Given the description of an element on the screen output the (x, y) to click on. 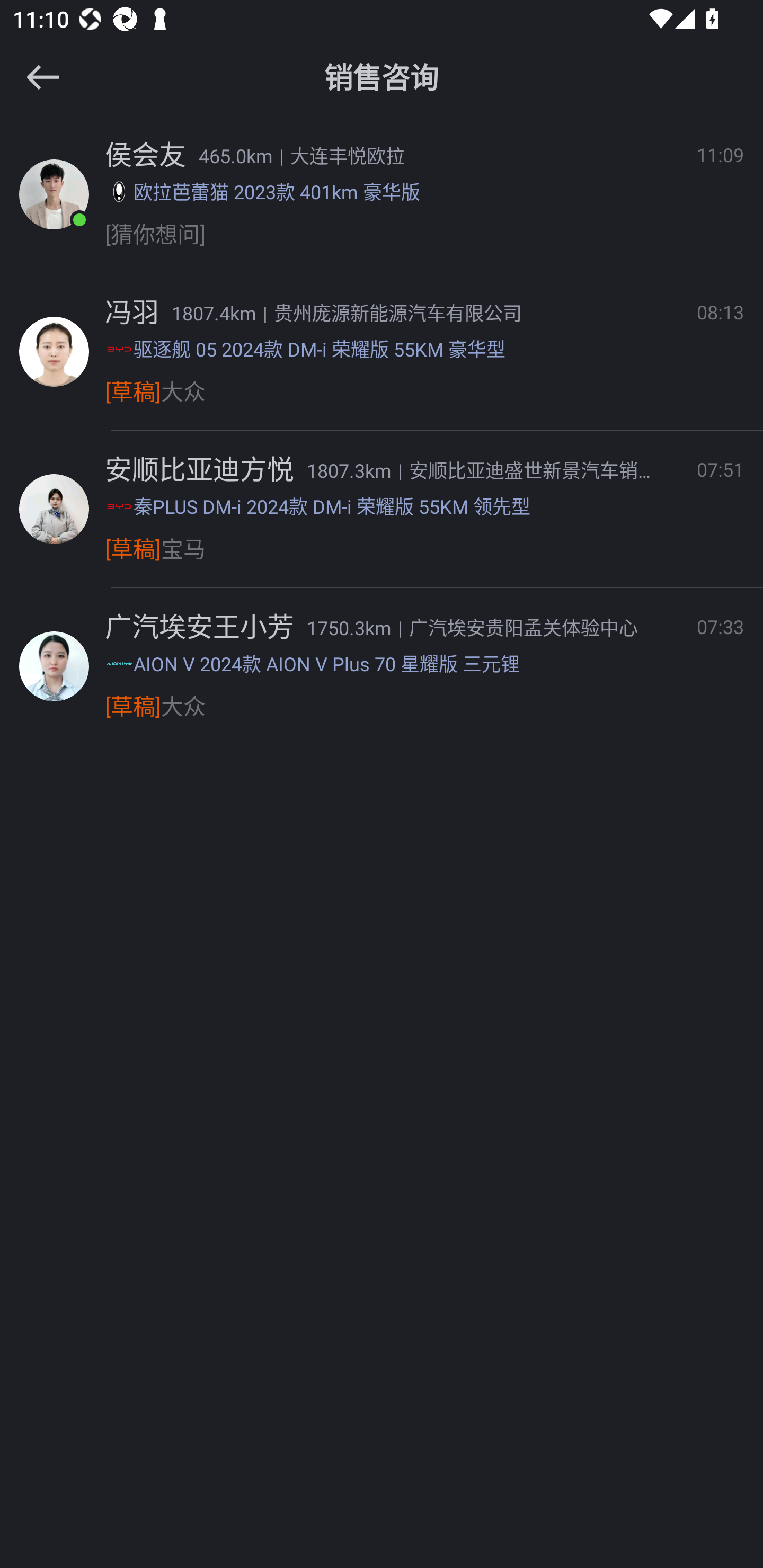
 (42, 76)
